Given the description of an element on the screen output the (x, y) to click on. 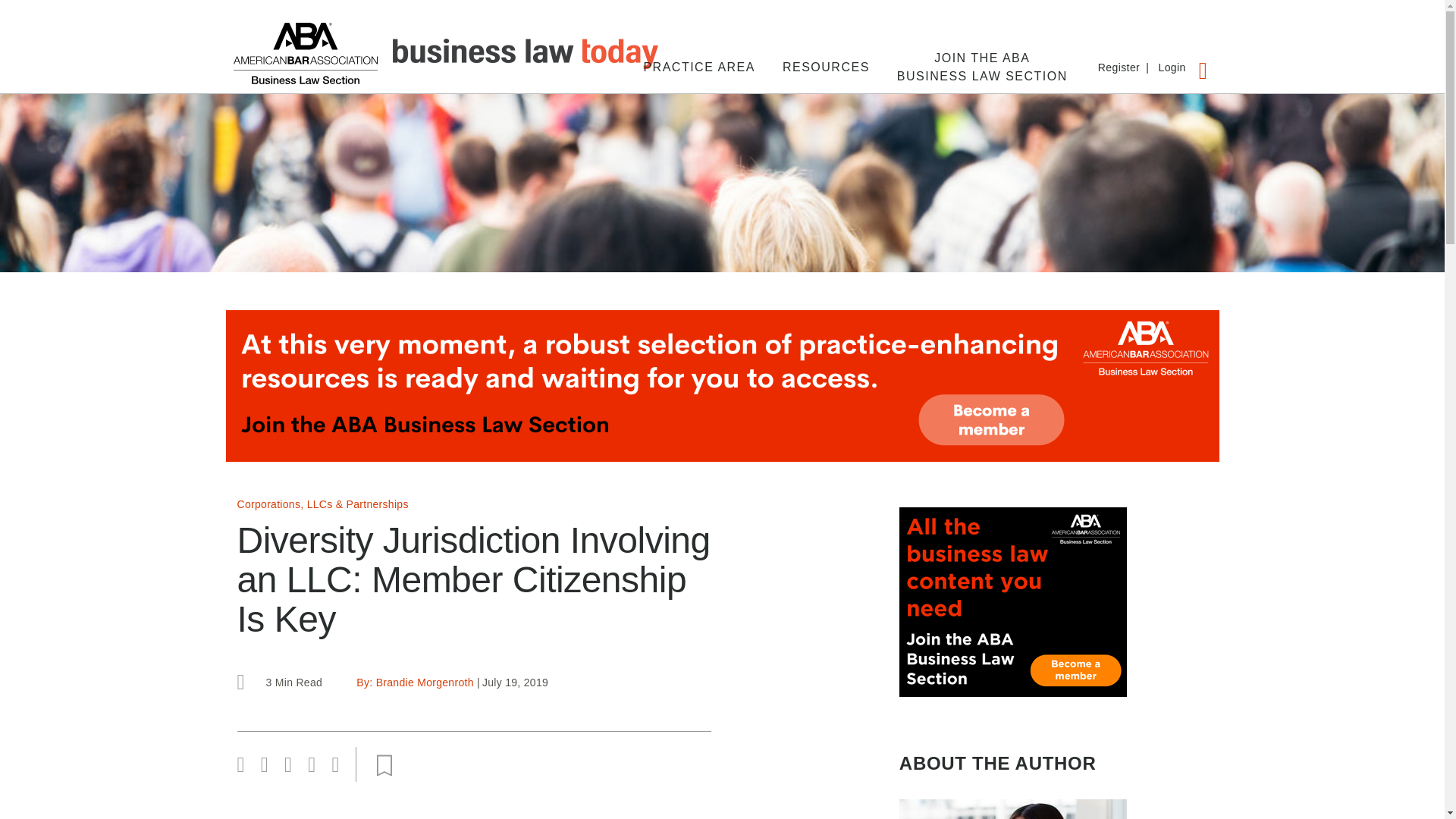
PRACTICE AREA (699, 67)
